Given the description of an element on the screen output the (x, y) to click on. 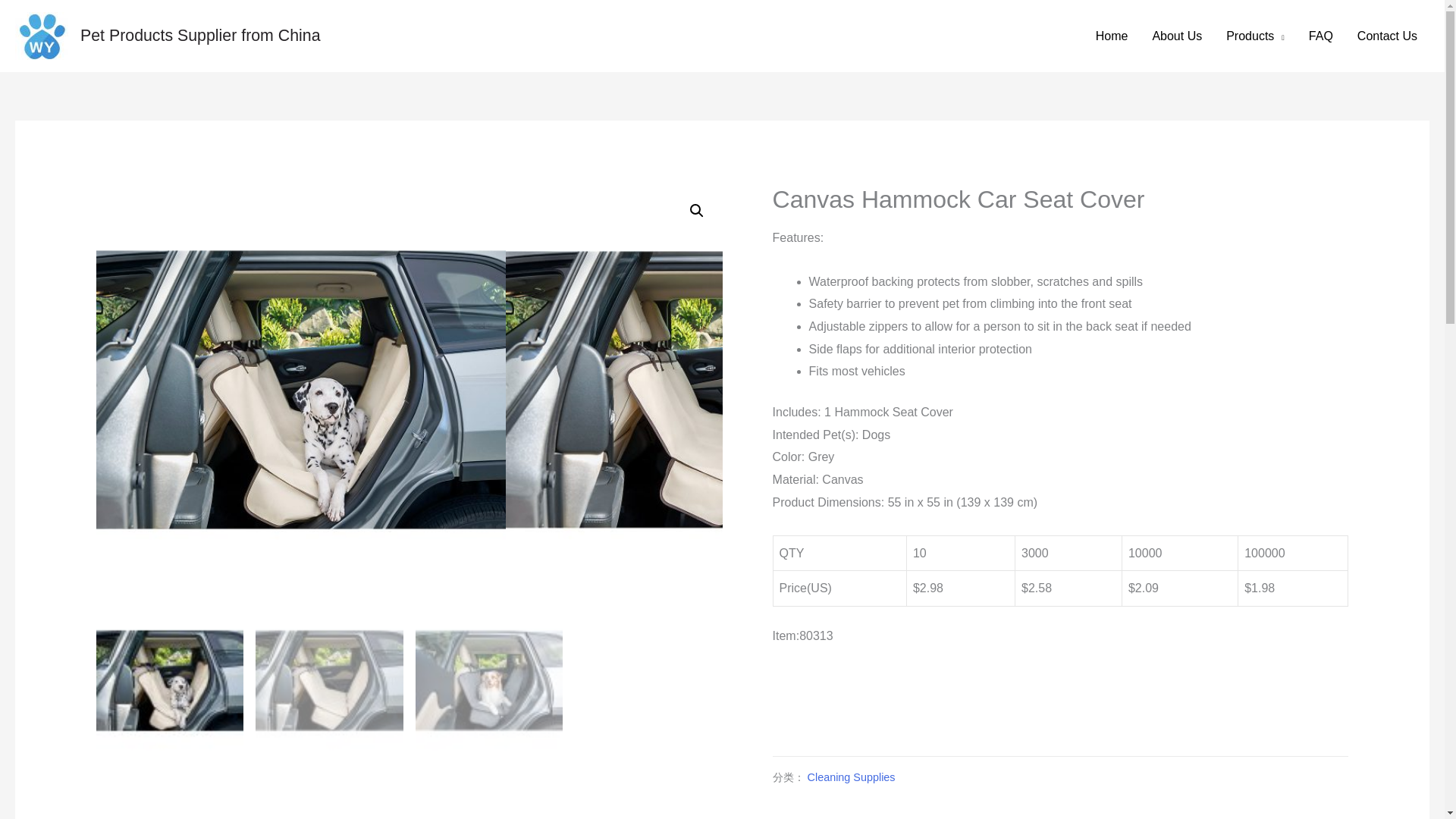
Products (1255, 35)
Home (1111, 35)
Contact Us (1387, 35)
About Us (1177, 35)
FAQ (1321, 35)
Pet Products Supplier from China (200, 35)
